Given the description of an element on the screen output the (x, y) to click on. 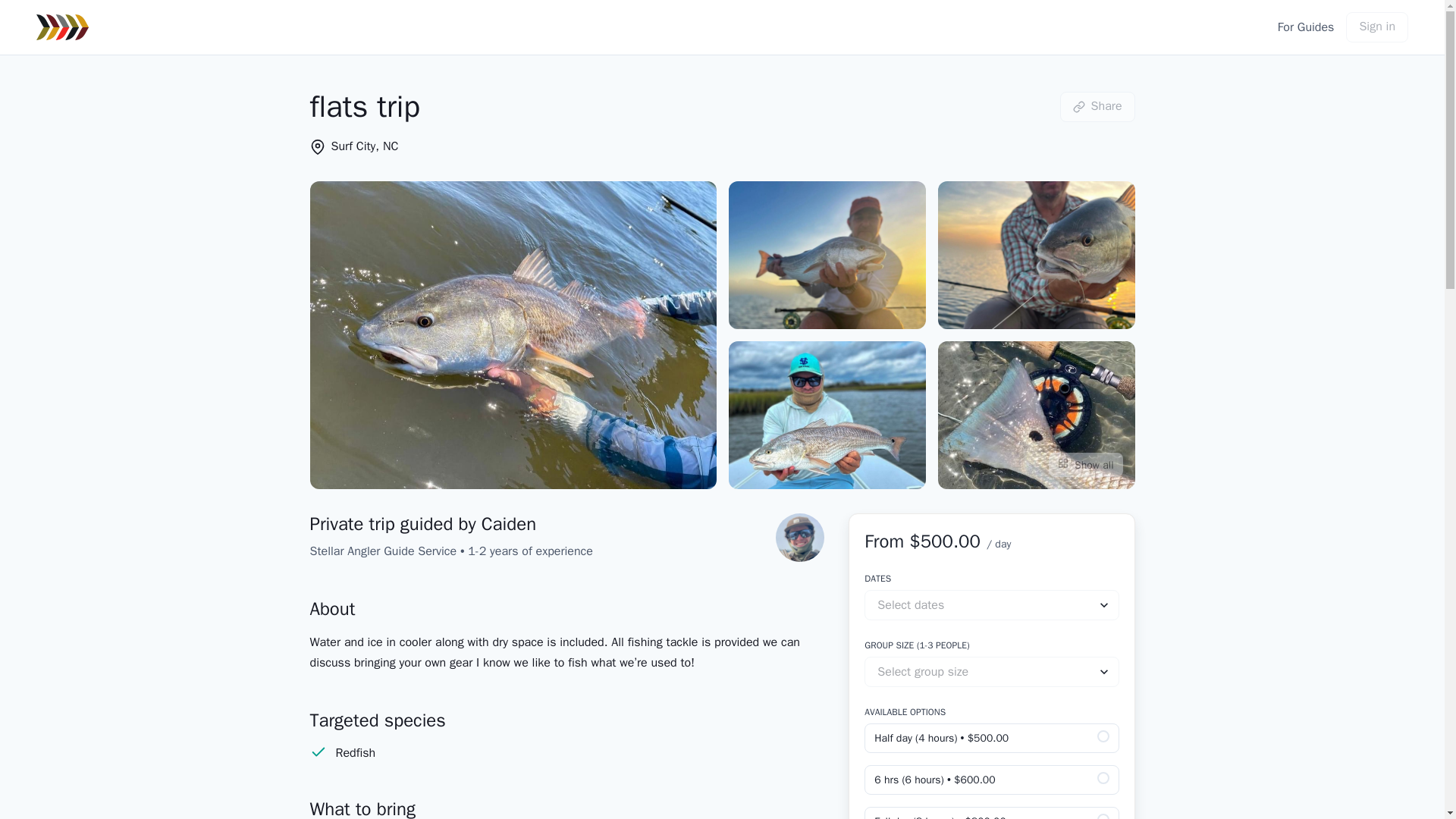
Share (1097, 105)
Sign in (1376, 27)
Stellar Angler Guide Service (382, 550)
For Guides (1306, 27)
Show all (1085, 464)
